Given the description of an element on the screen output the (x, y) to click on. 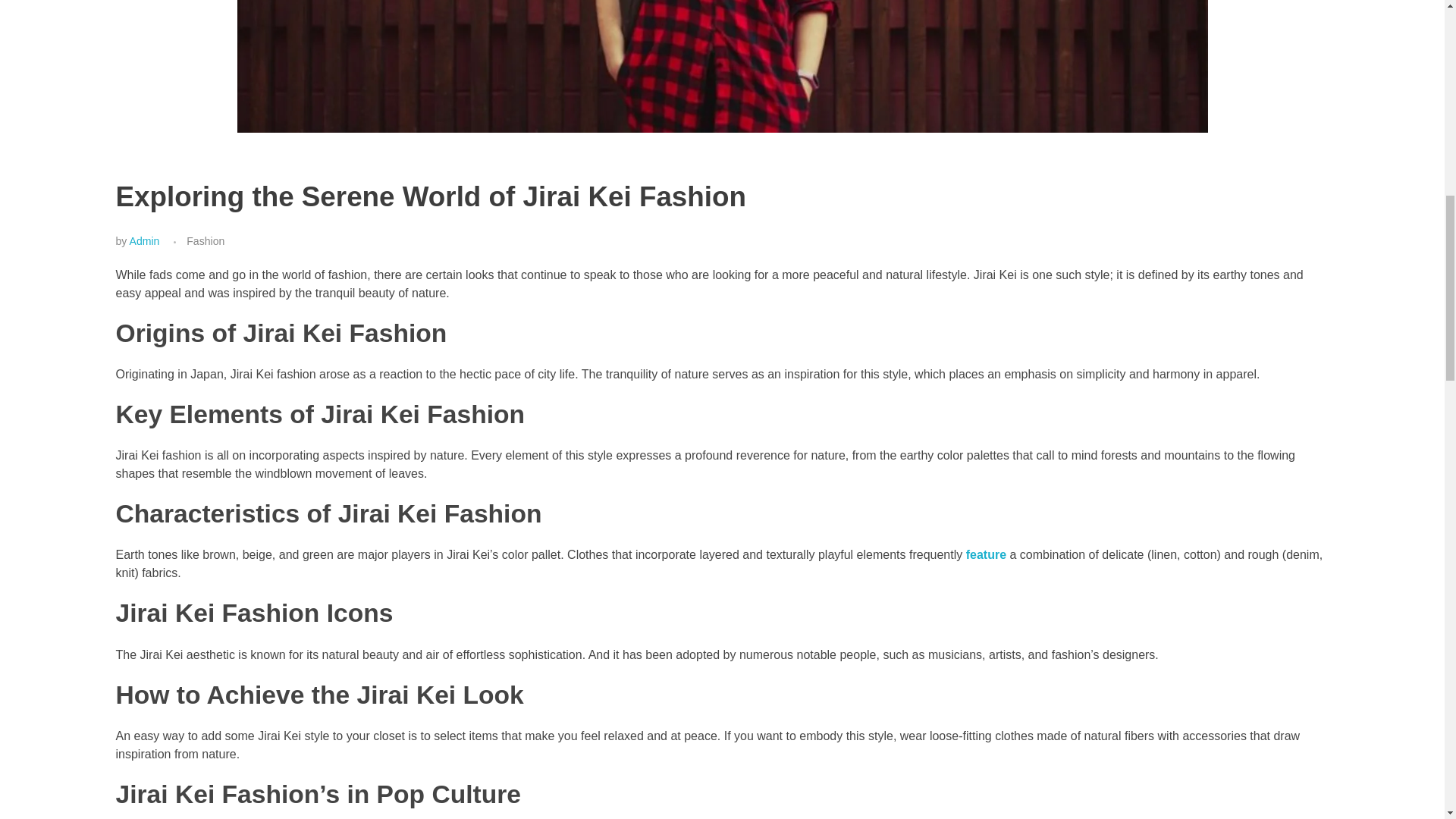
feature (986, 554)
Admin (144, 241)
View all posts by Admin (144, 241)
View all posts in Fashion (205, 241)
Fashion (205, 241)
